Given the description of an element on the screen output the (x, y) to click on. 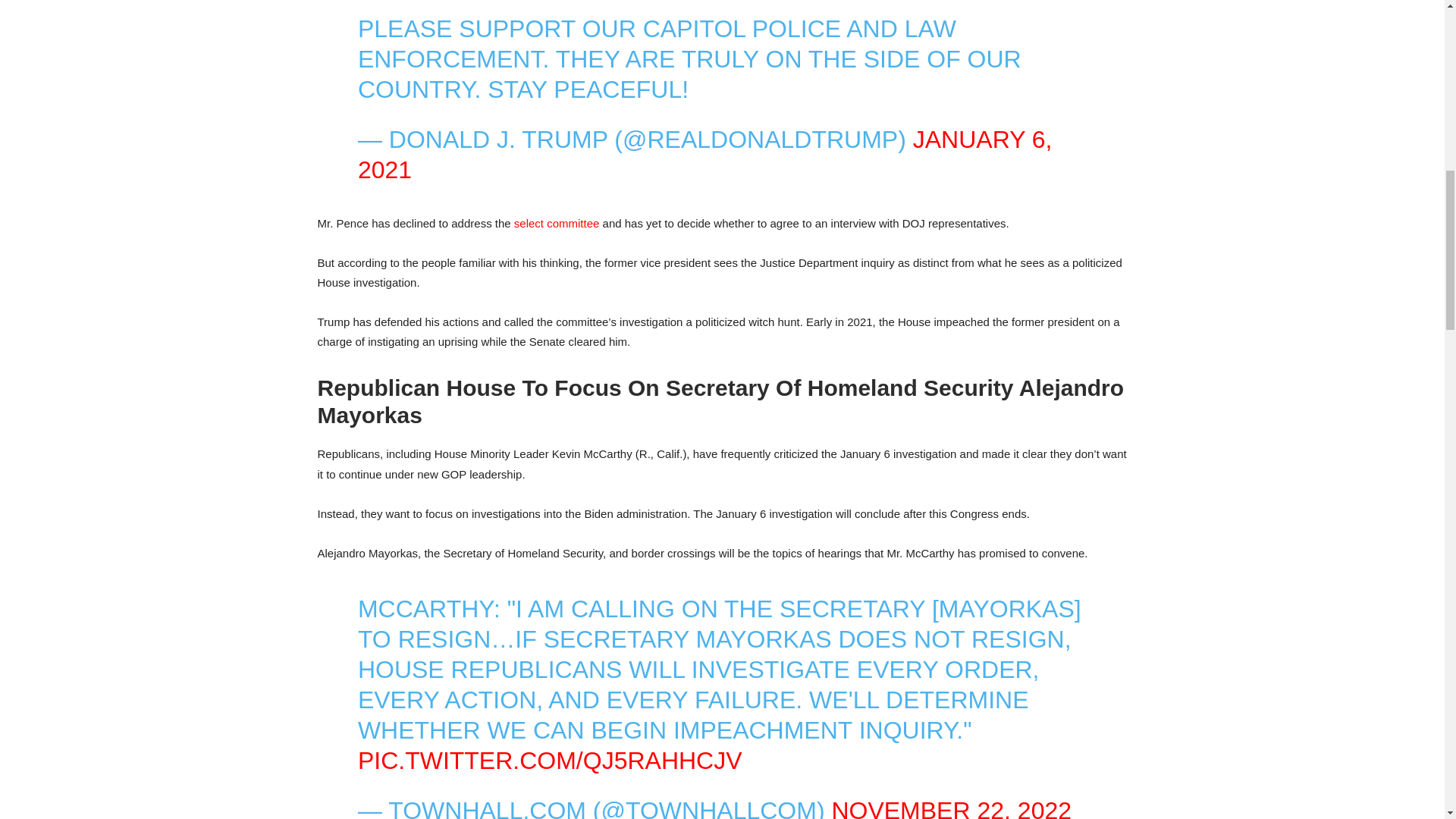
select committee (556, 223)
JANUARY 6, 2021 (705, 154)
NOVEMBER 22, 2022 (951, 807)
